Given the description of an element on the screen output the (x, y) to click on. 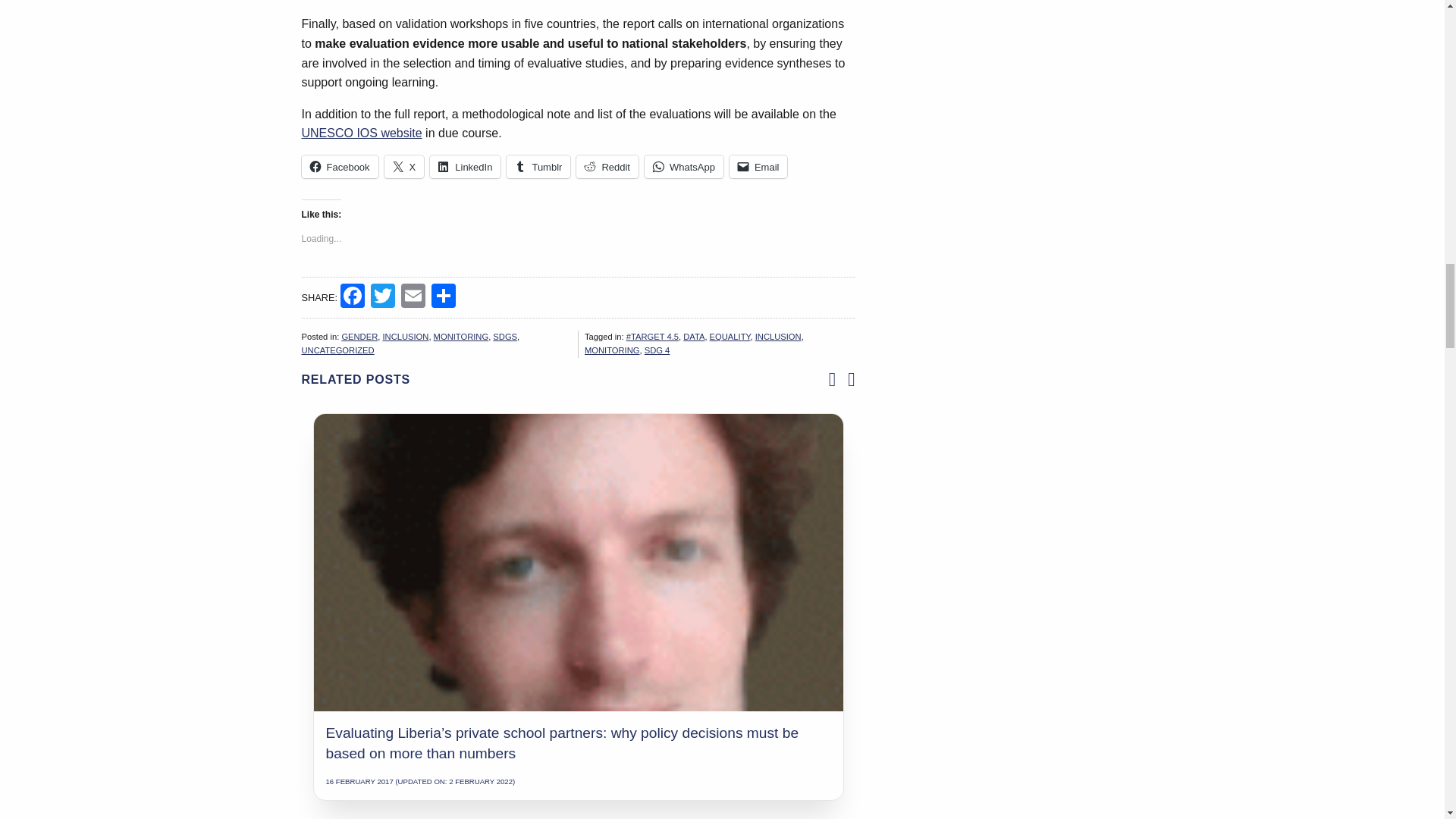
Email (412, 297)
Twitter (382, 297)
Click to share on Tumblr (538, 166)
Click to share on X (404, 166)
Click to share on WhatsApp (684, 166)
Click to share on Facebook (339, 166)
Click to share on Reddit (607, 166)
Click to share on LinkedIn (464, 166)
Click to email a link to a friend (758, 166)
Facebook (352, 297)
